Given the description of an element on the screen output the (x, y) to click on. 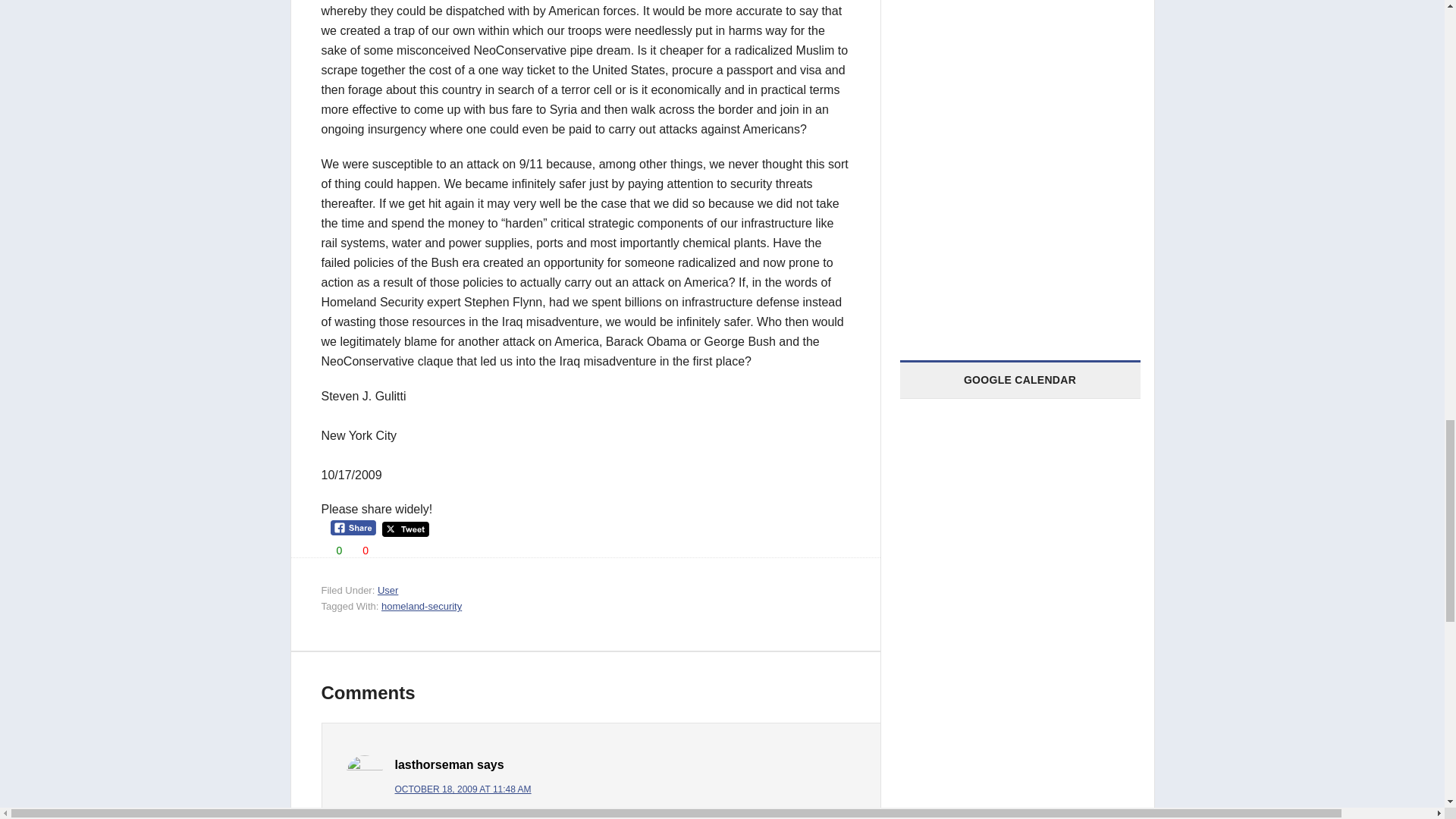
Tweet (405, 529)
User (387, 590)
homeland-security (421, 605)
OCTOBER 18, 2009 AT 11:48 AM (462, 788)
Facebook Share (353, 528)
